Given the description of an element on the screen output the (x, y) to click on. 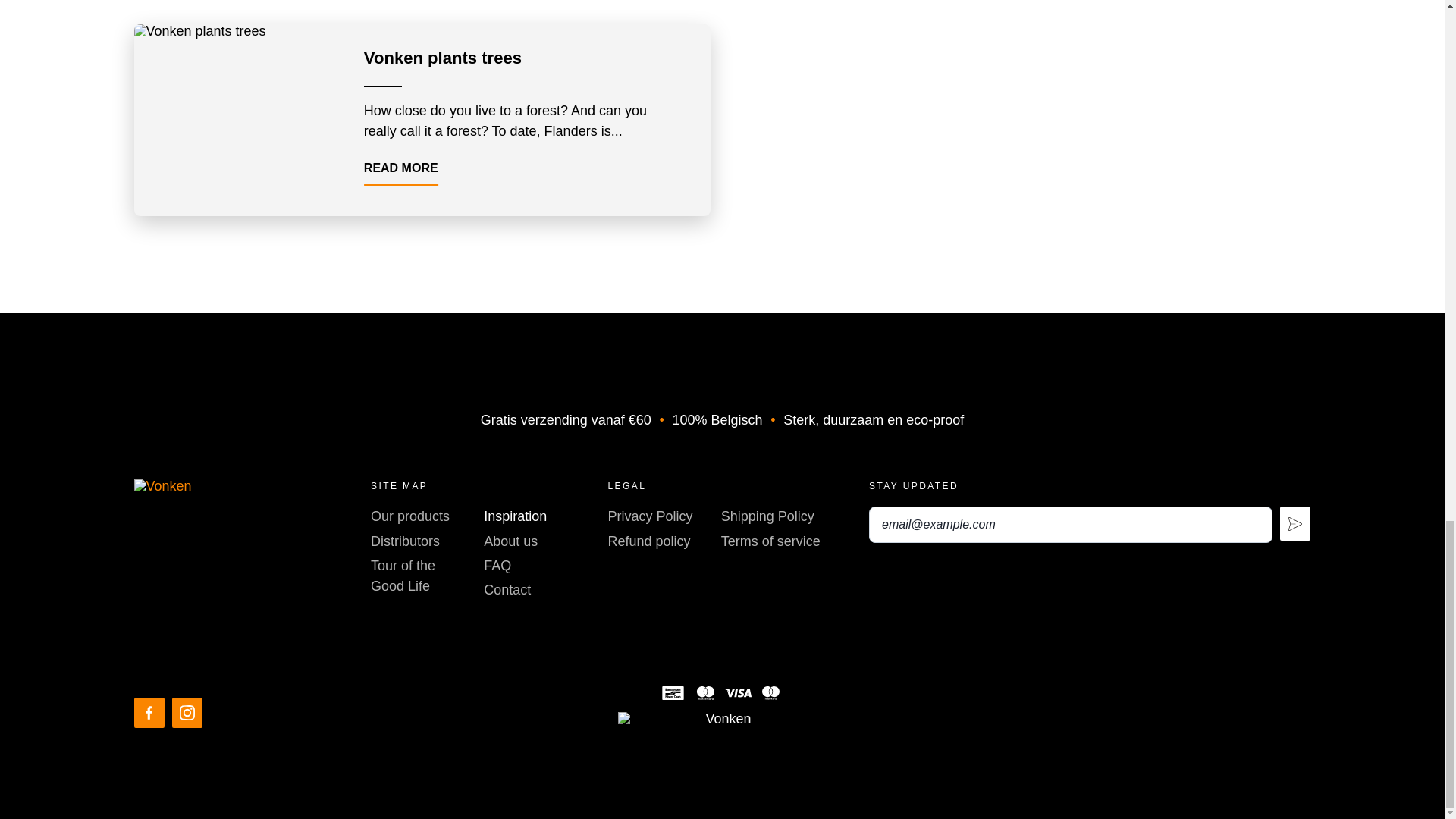
bancontact (672, 693)
visa (738, 693)
maestro (770, 693)
mastercard (706, 693)
